Given the description of an element on the screen output the (x, y) to click on. 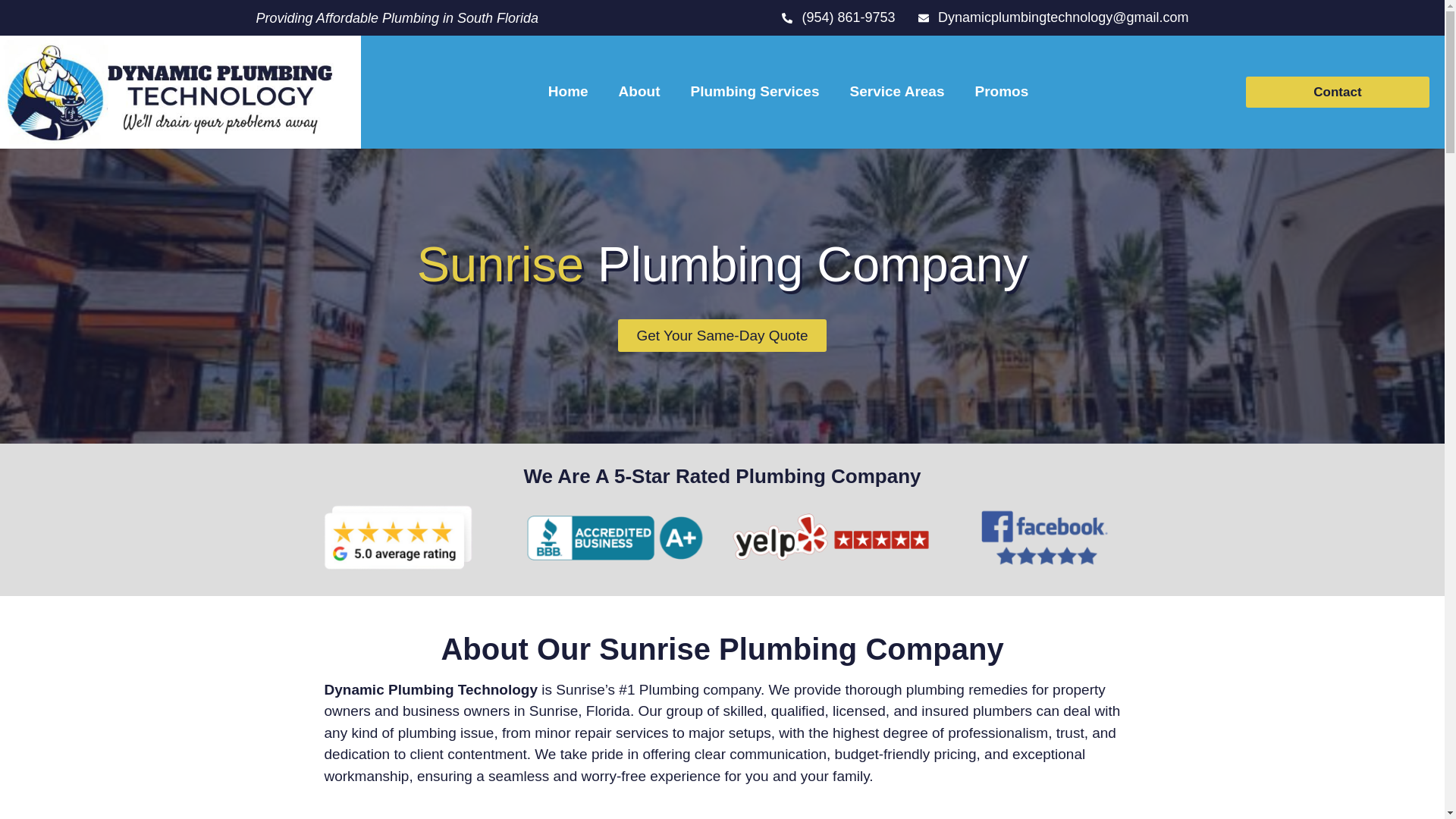
Plumbing Services (754, 91)
Promos (1001, 91)
Home (568, 91)
About (639, 91)
Service Areas (896, 91)
